Given the description of an element on the screen output the (x, y) to click on. 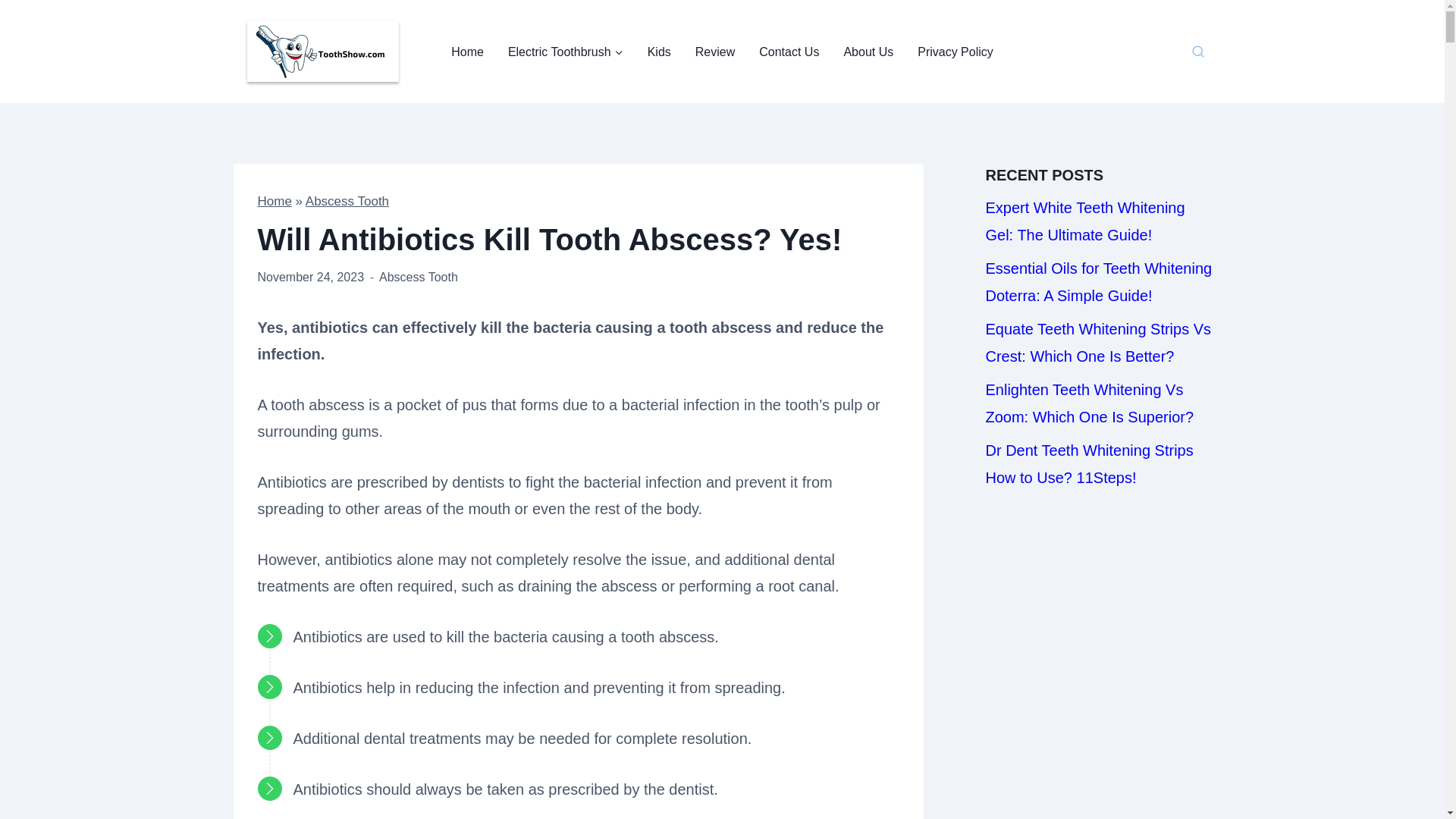
Privacy Policy (955, 51)
Contact Us (788, 51)
Electric Toothbrush (565, 51)
Abscess Tooth (346, 201)
Kids (658, 51)
Home (467, 51)
Home (274, 201)
Review (714, 51)
Abscess Tooth (418, 277)
About Us (868, 51)
